Given the description of an element on the screen output the (x, y) to click on. 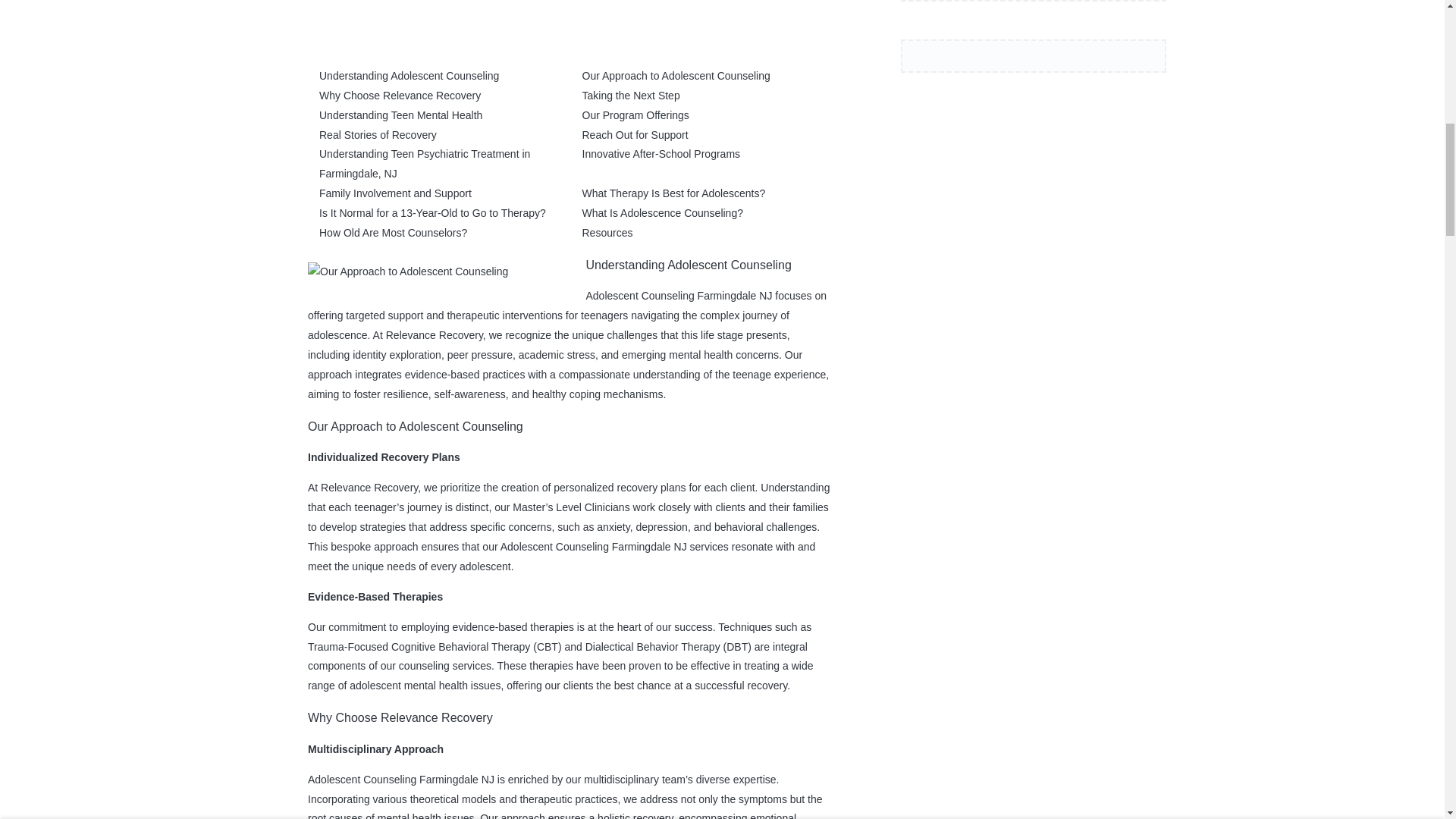
Our Approach to Adolescent Counseling (676, 75)
Why Choose Relevance Recovery (399, 95)
Understanding Teen Mental Health (399, 114)
Posts by Relevance Teen (375, 25)
Understanding Adolescent Counseling (408, 75)
Taking the Next Step (630, 95)
